Given the description of an element on the screen output the (x, y) to click on. 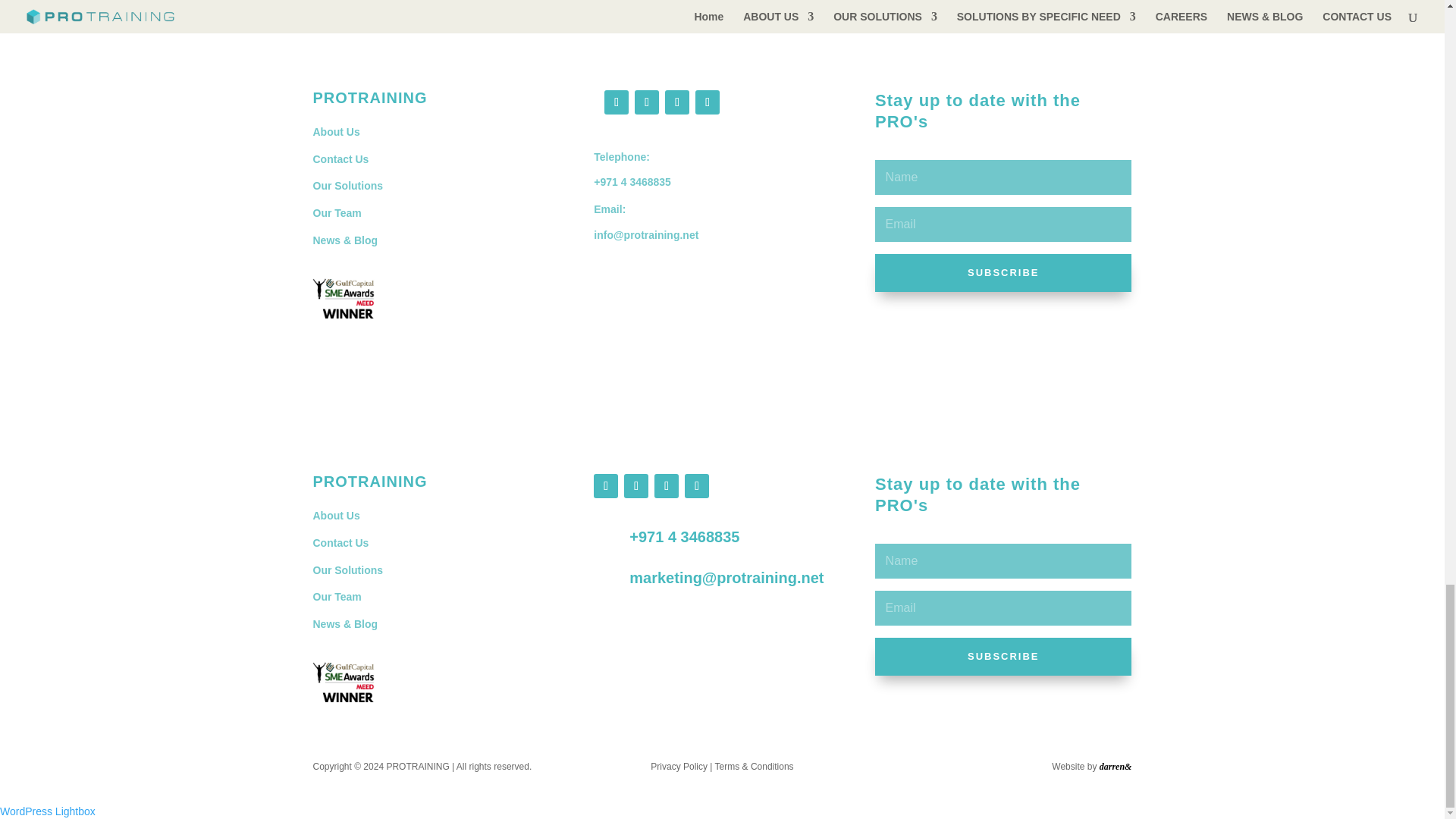
Follow on LinkedIn (676, 102)
SUBSCRIBE (1003, 656)
Follow on Youtube (707, 102)
Follow on Youtube (696, 485)
Follow on Facebook (605, 485)
WordPress Lightbox (48, 811)
SUBSCRIBE (1003, 272)
Follow on LinkedIn (635, 485)
Follow on Facebook (616, 102)
Follow on Twitter (665, 485)
